Given the description of an element on the screen output the (x, y) to click on. 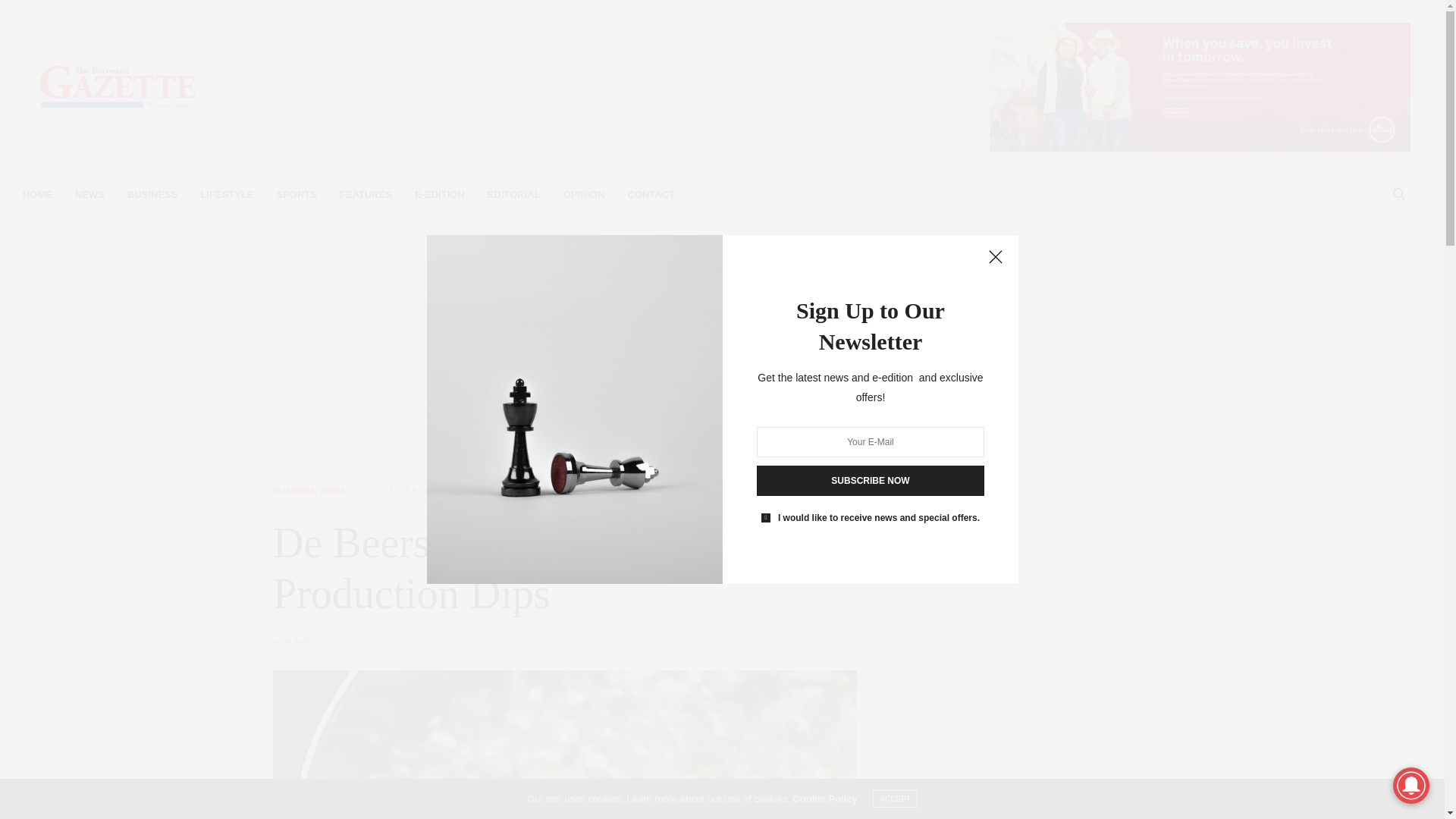
FEATURES (365, 193)
CONTACT (651, 193)
SUBSCRIBE NOW (870, 481)
BUSINESS (294, 490)
E-EDITION (439, 193)
SPORTS (296, 193)
OPINION (584, 193)
ADMIN (296, 641)
Botswana Gazette (117, 86)
